Given the description of an element on the screen output the (x, y) to click on. 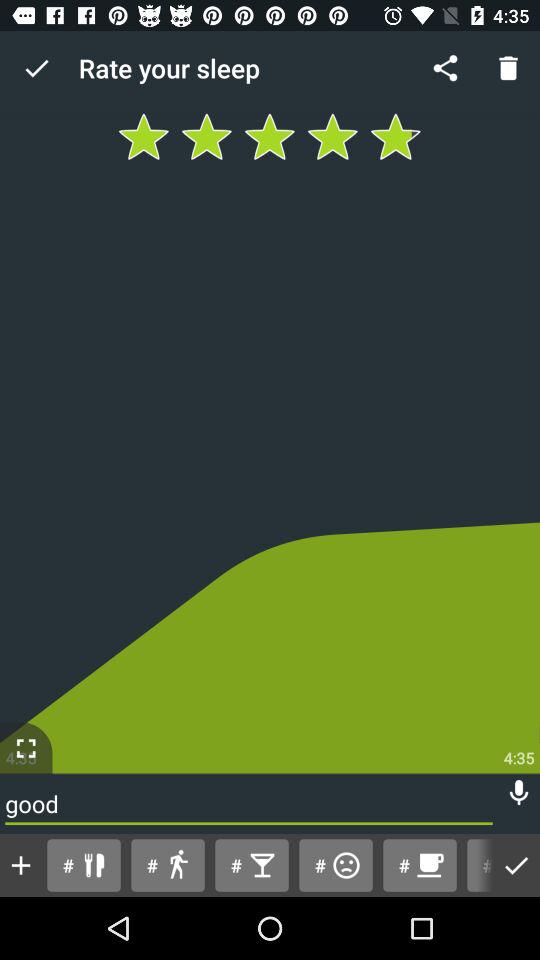
add more items (21, 865)
